Given the description of an element on the screen output the (x, y) to click on. 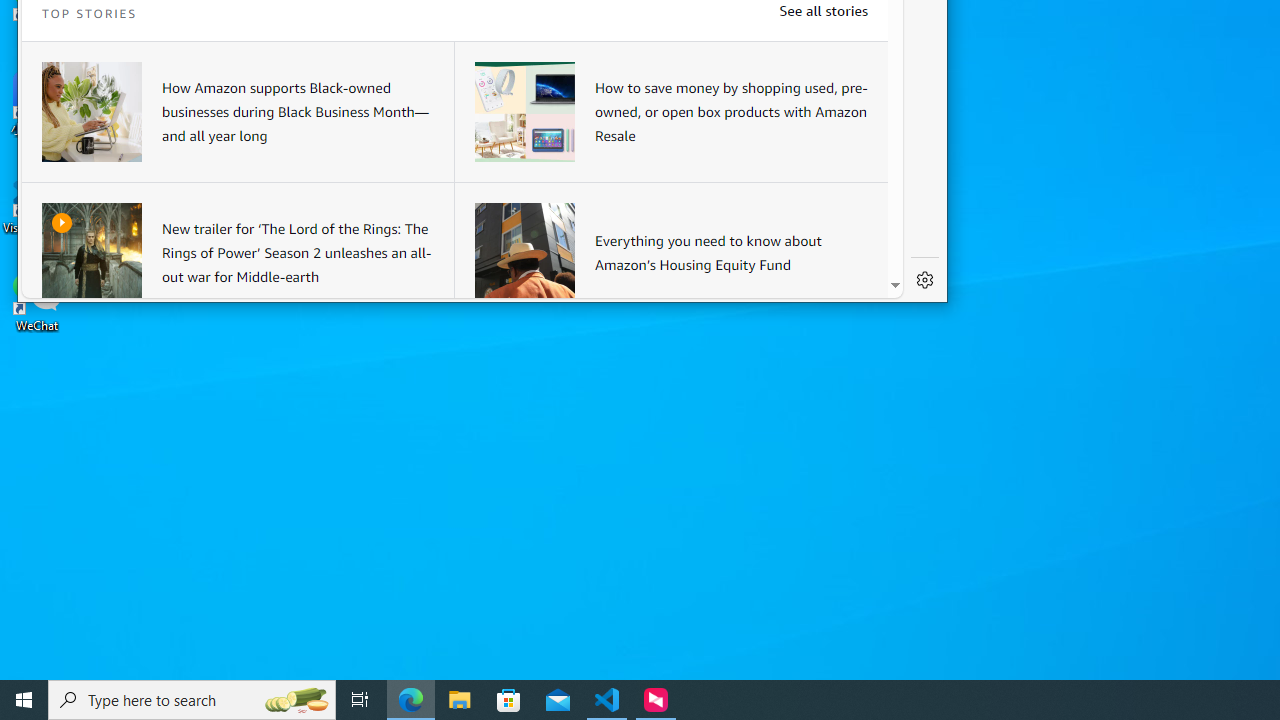
Search highlights icon opens search home window (295, 699)
Microsoft Store (509, 699)
Start (24, 699)
Type here to search (191, 699)
See all stories (823, 10)
A woman sitting at a desk working on a laptop device. (92, 111)
